Given the description of an element on the screen output the (x, y) to click on. 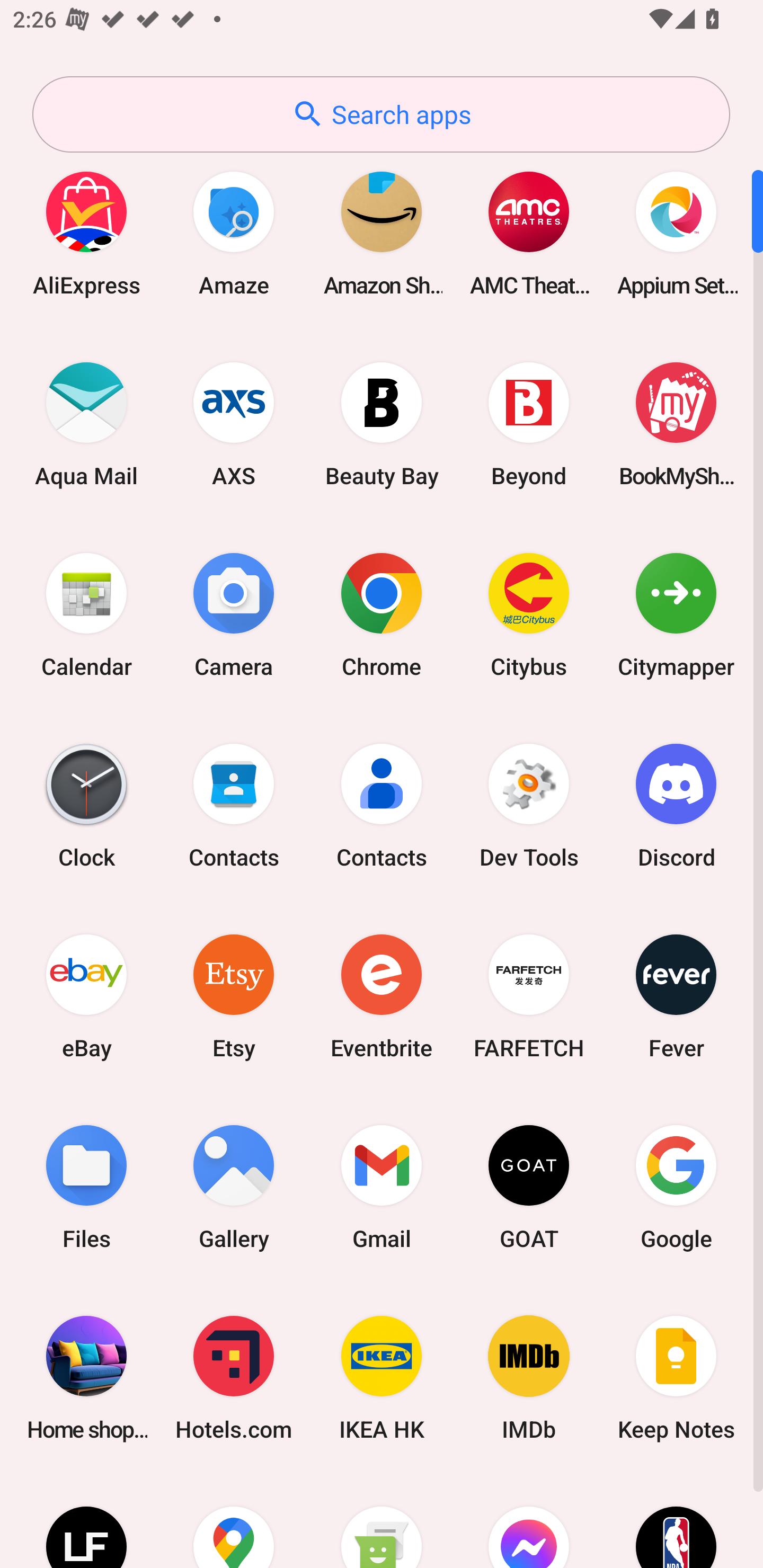
Citymapper (676, 614)
